Given the description of an element on the screen output the (x, y) to click on. 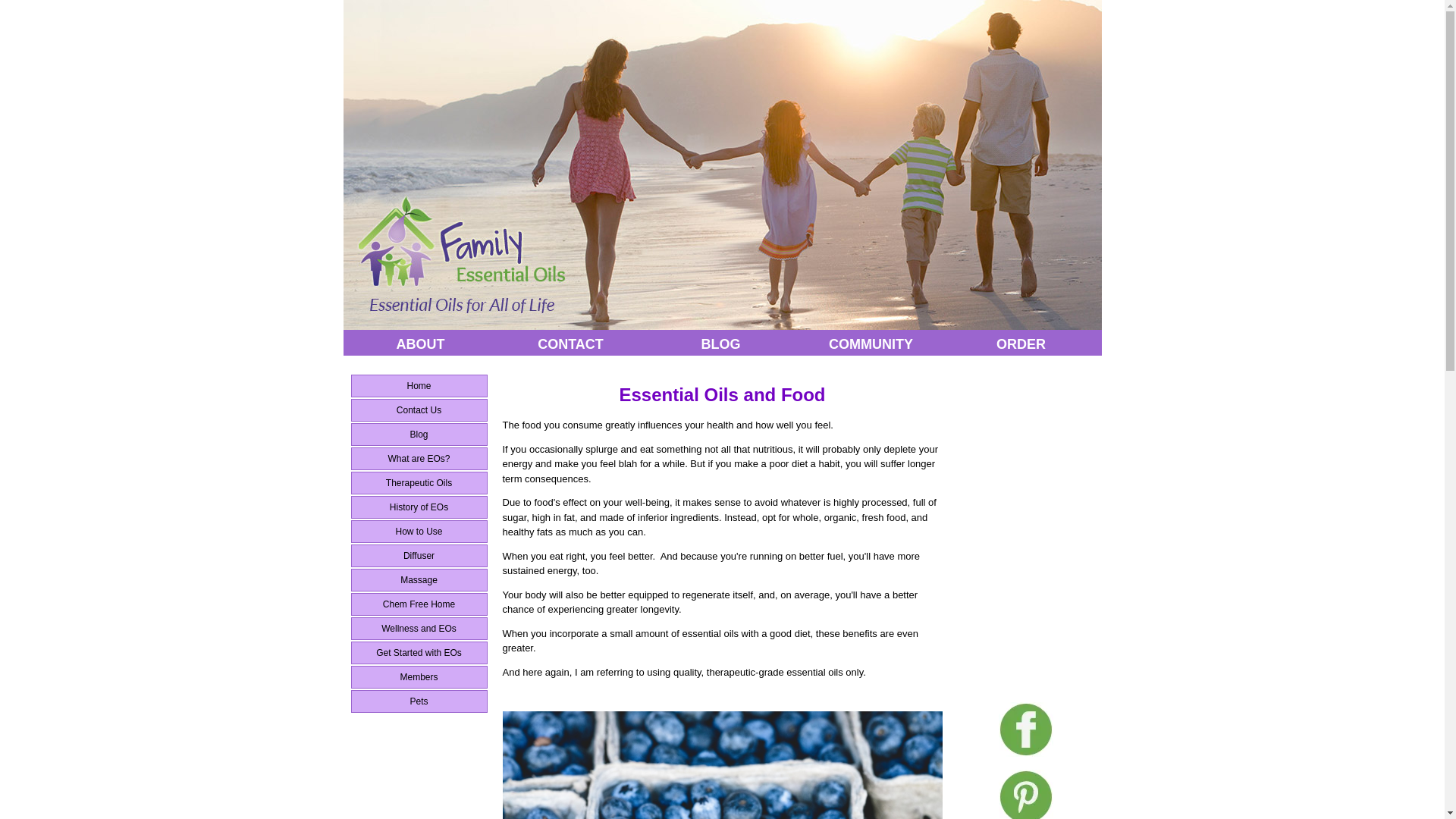
Home (418, 385)
How to Use (418, 531)
Therapeutic Oils (418, 482)
Diffuser (418, 555)
Chem Free Home (418, 603)
COMMUNITY (871, 344)
ORDER (1021, 344)
Blog (418, 434)
Contact Us (418, 409)
Massage (418, 579)
What are EOs? (418, 458)
Members (418, 676)
CONTACT (571, 344)
Wellness and EOs (418, 628)
BLOG (721, 344)
